Given the description of an element on the screen output the (x, y) to click on. 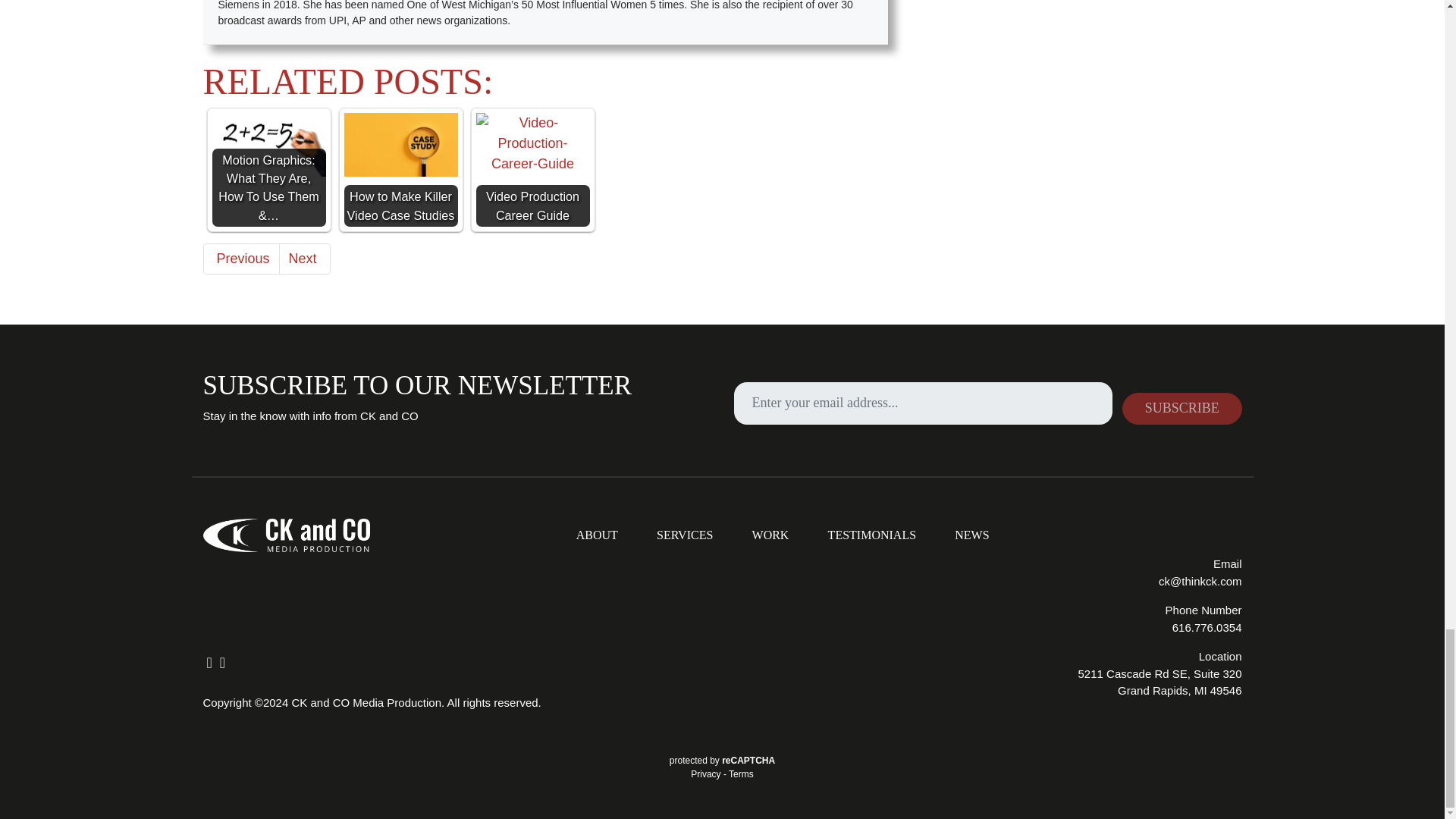
CK and CO (286, 535)
Video Production Career Guide (532, 143)
Subscribe (1181, 409)
Previous (241, 258)
Next (304, 258)
How to Make Killer Video Case Studies (400, 169)
How to Make Killer Video Case Studies (400, 144)
Video Production Career Guide (532, 169)
